Given the description of an element on the screen output the (x, y) to click on. 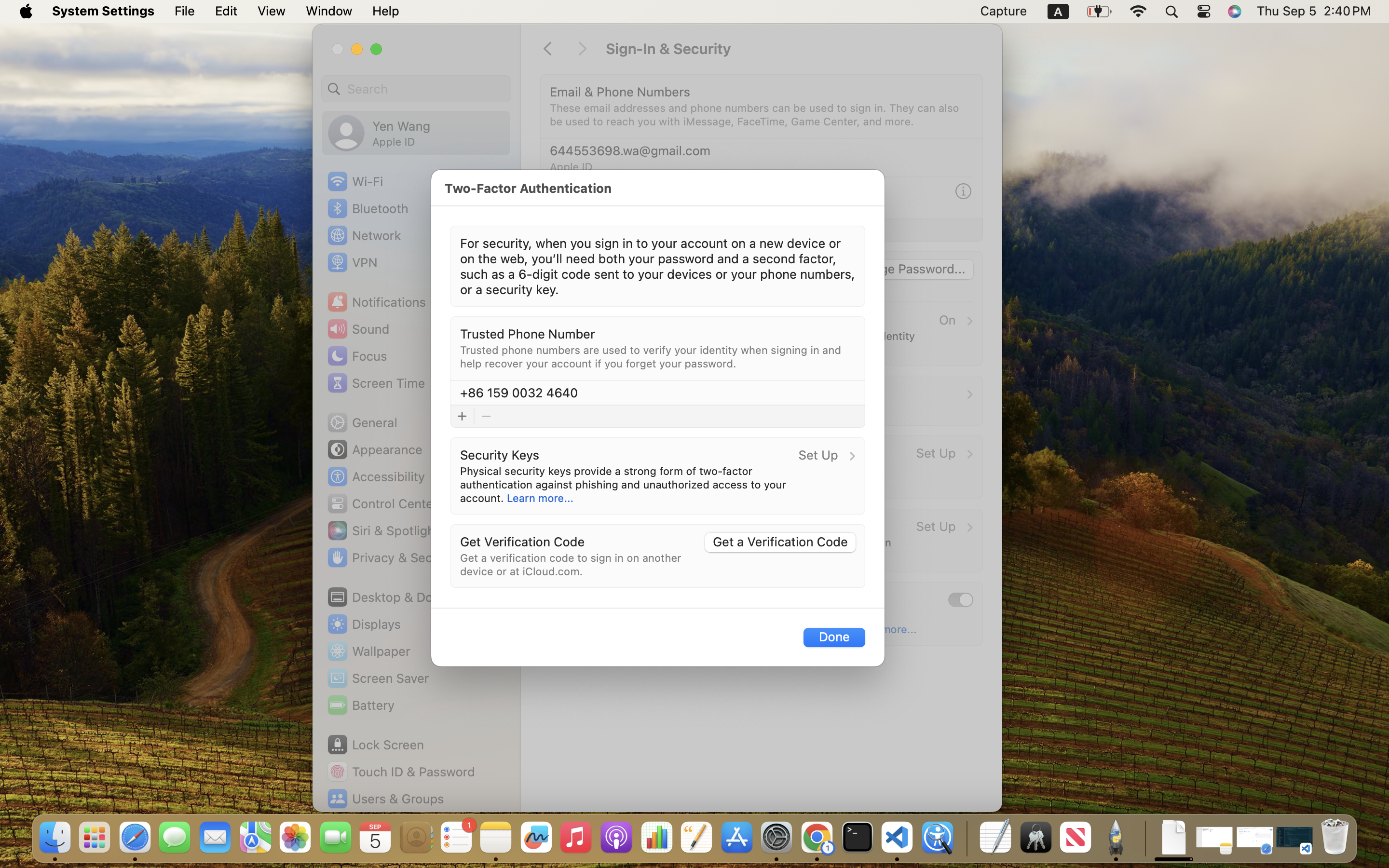
Network Element type: AXStaticText (363, 234)
Touch ID & Password Element type: AXStaticText (400, 771)
For security, when you sign in to your account on a new device or on the web, you’ll need both your password and a second factor, such as a 6-digit code sent to your devices or your phone numbers, or a security key. Element type: AXStaticText (657, 266)
Displays Element type: AXStaticText (363, 623)
Get Verification Code Element type: AXStaticText (522, 540)
